Given the description of an element on the screen output the (x, y) to click on. 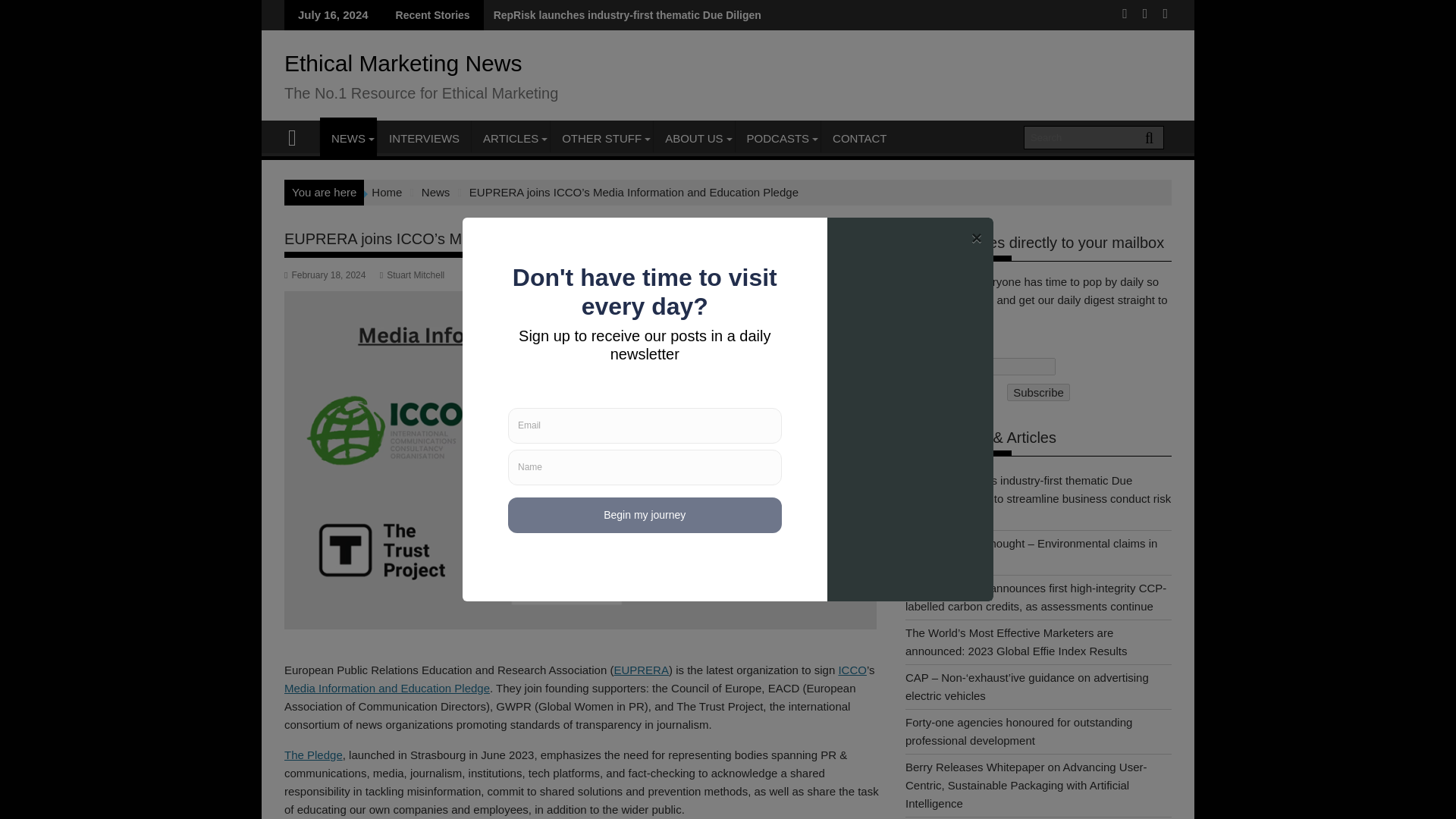
NEWS (348, 138)
Ethical Marketing News (298, 136)
Subscribe (1038, 392)
ABOUT US (693, 138)
PODCASTS (778, 138)
ARTICLES (510, 138)
INTERVIEWS (423, 138)
Ethical Marketing News (402, 63)
OTHER STUFF (601, 138)
CONTACT (859, 138)
